Given the description of an element on the screen output the (x, y) to click on. 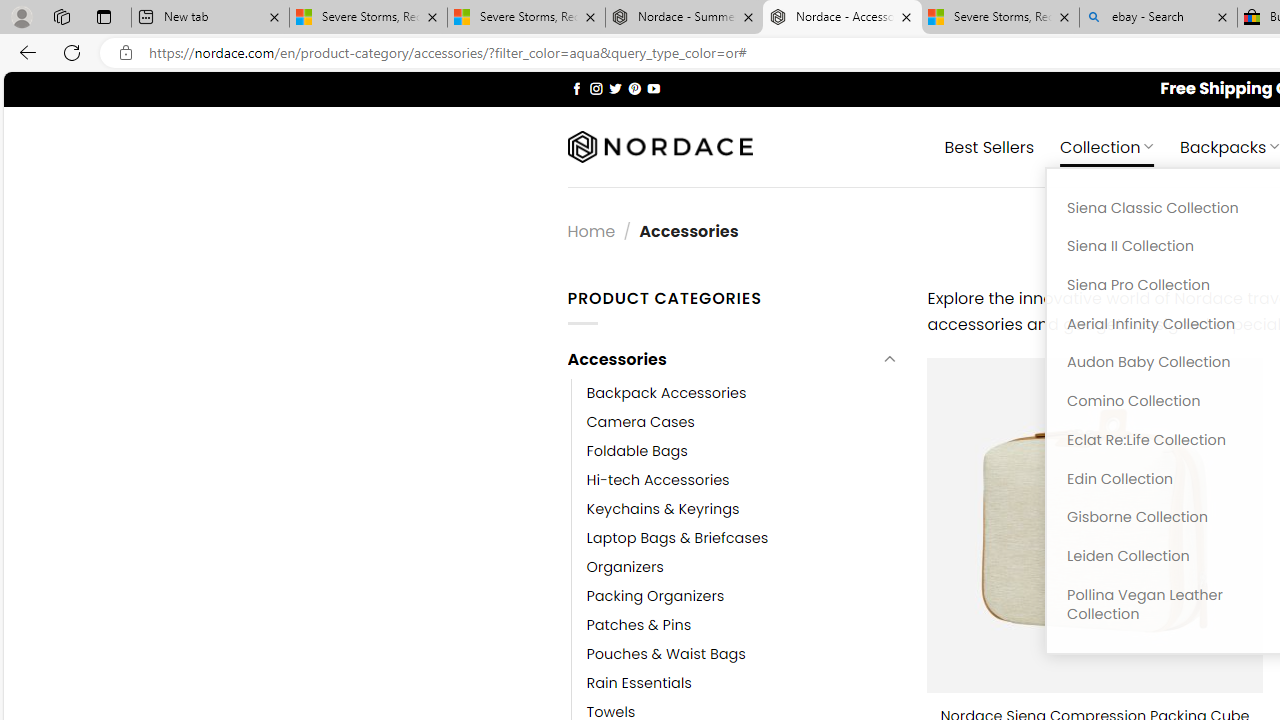
Camera Cases (742, 421)
Laptop Bags & Briefcases (677, 537)
Keychains & Keyrings (662, 508)
Keychains & Keyrings (742, 508)
Pouches & Waist Bags (742, 655)
Nordace - Accessories (842, 17)
Patches & Pins (639, 625)
Hi-tech Accessories (742, 480)
  Best Sellers (989, 146)
Camera Cases (640, 421)
